Given the description of an element on the screen output the (x, y) to click on. 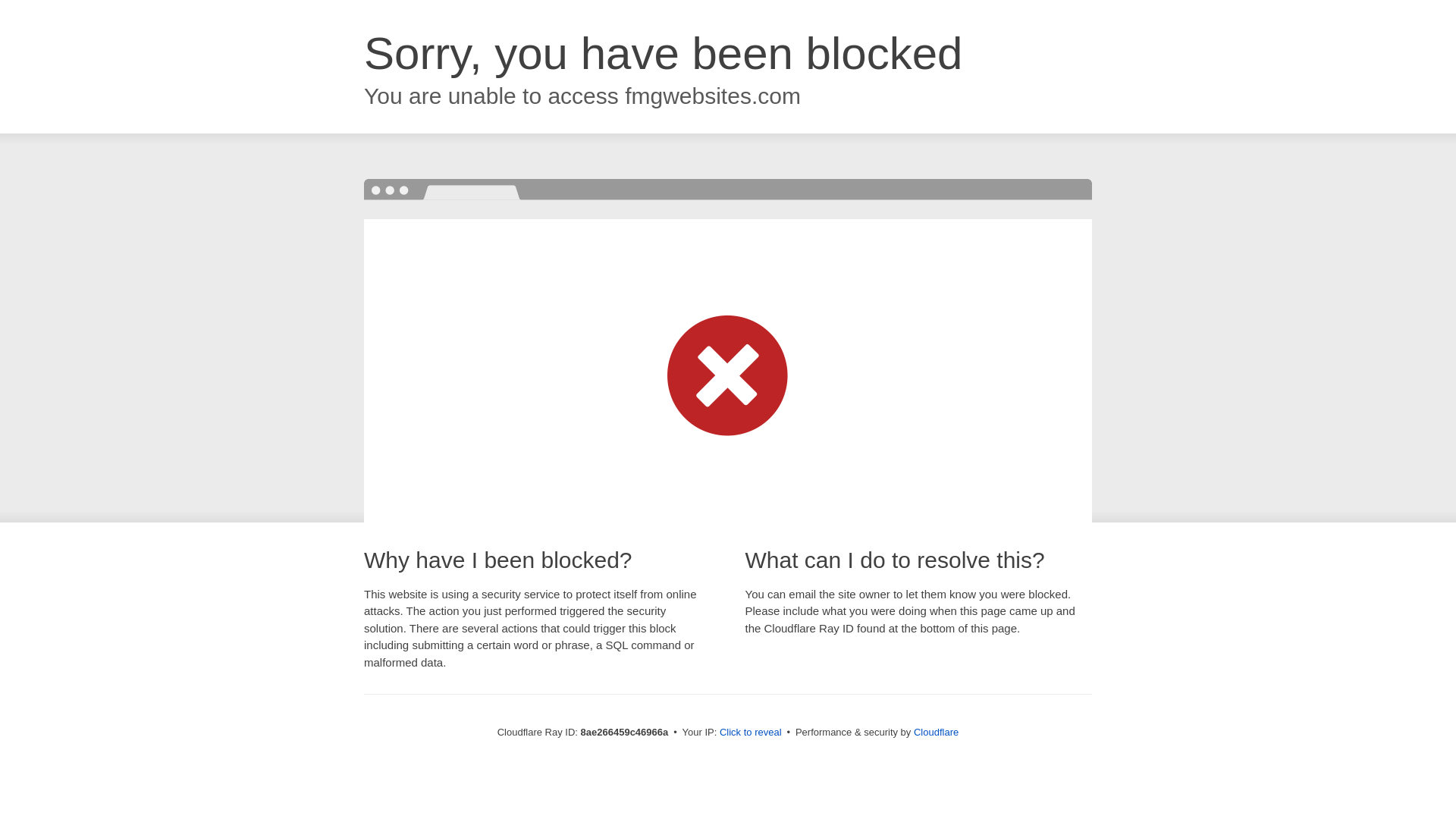
Click to reveal (750, 732)
Cloudflare (936, 731)
